Given the description of an element on the screen output the (x, y) to click on. 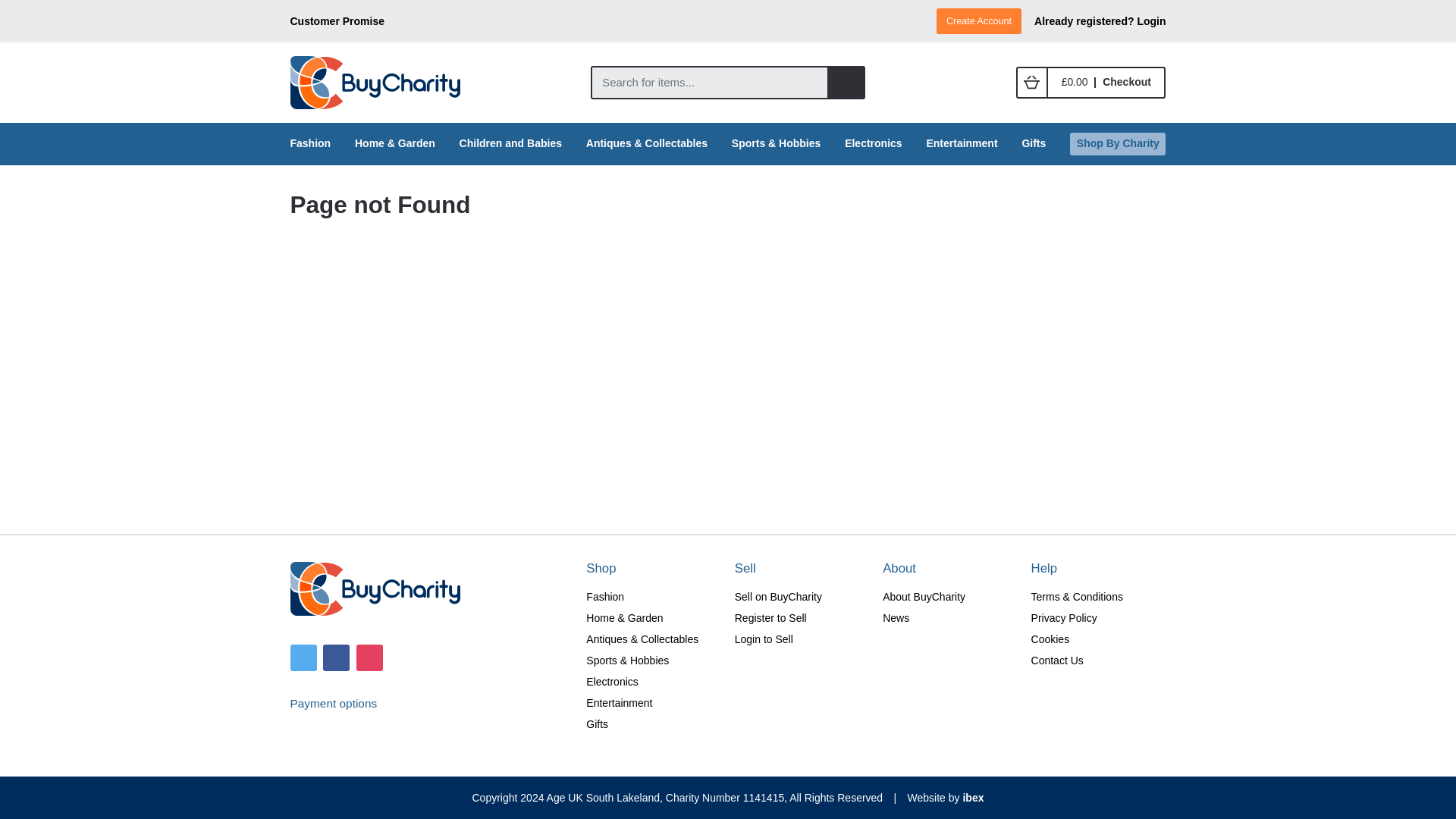
Twitter (302, 656)
Customer Promise (336, 21)
Instagram (369, 656)
Create Account (978, 20)
Children and Babies (510, 143)
Entertainment (962, 143)
Facebook (336, 656)
Fashion (310, 143)
Electronics (873, 143)
Already registered? Login (1099, 21)
